Given the description of an element on the screen output the (x, y) to click on. 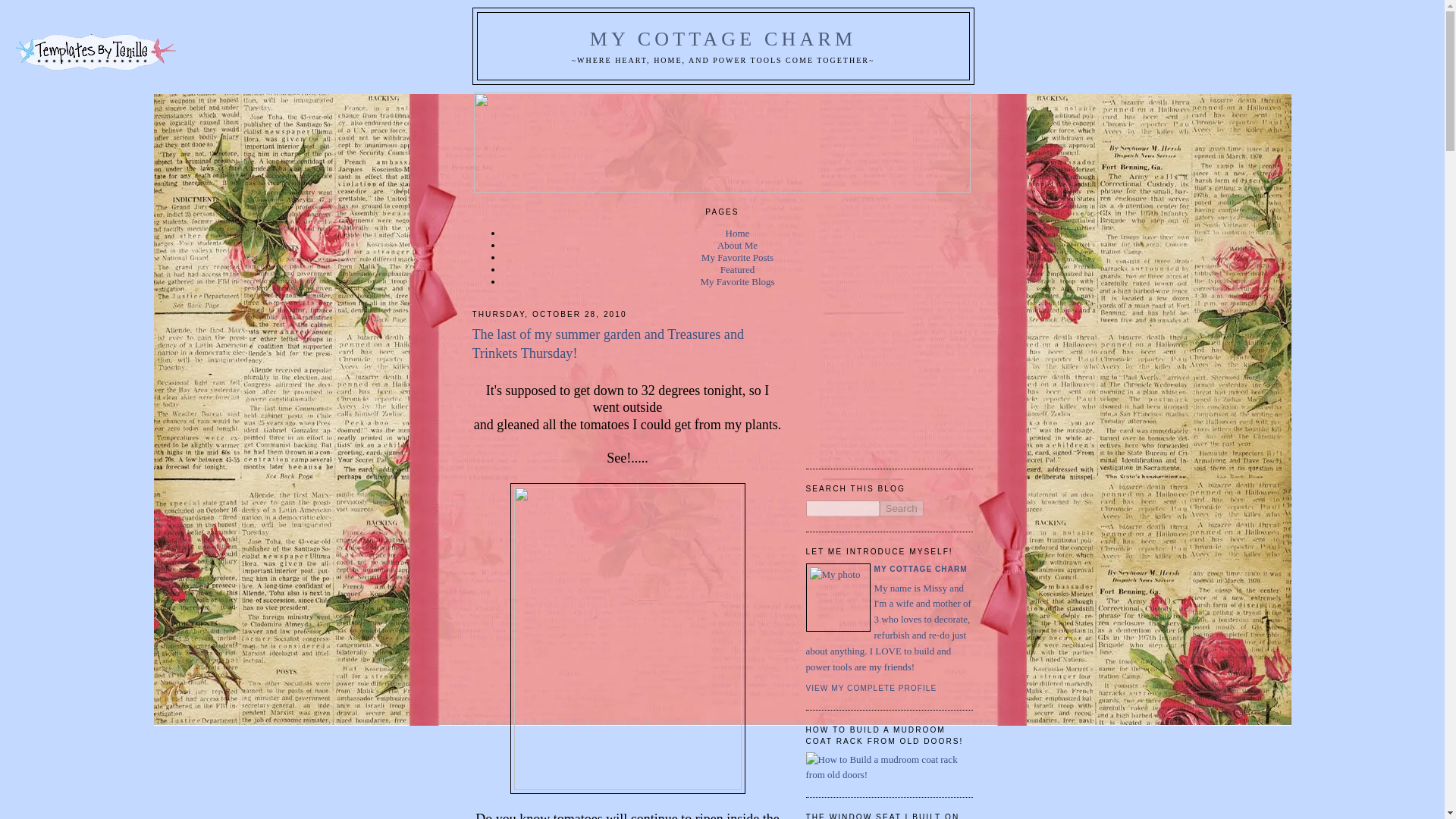
Search (901, 508)
My Favorite Posts (737, 256)
My Favorite Blogs (737, 281)
Featured (737, 269)
About Me (737, 244)
Search (901, 508)
MY COTTAGE CHARM (723, 38)
Home (737, 233)
